Given the description of an element on the screen output the (x, y) to click on. 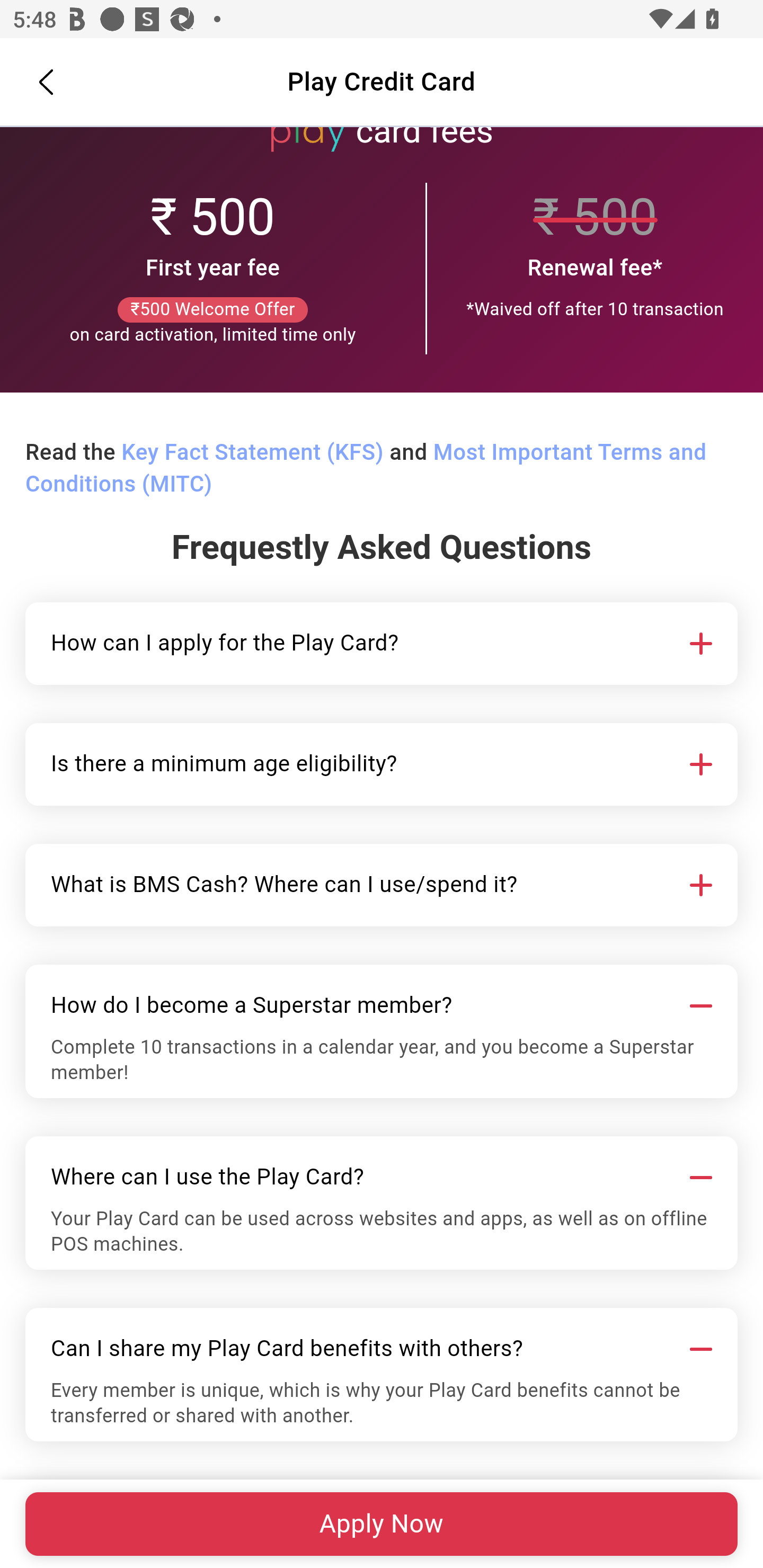
Most Important Terms and Conditions (MITC) (366, 469)
Key Fact Statement (KFS) (252, 453)
